Given the description of an element on the screen output the (x, y) to click on. 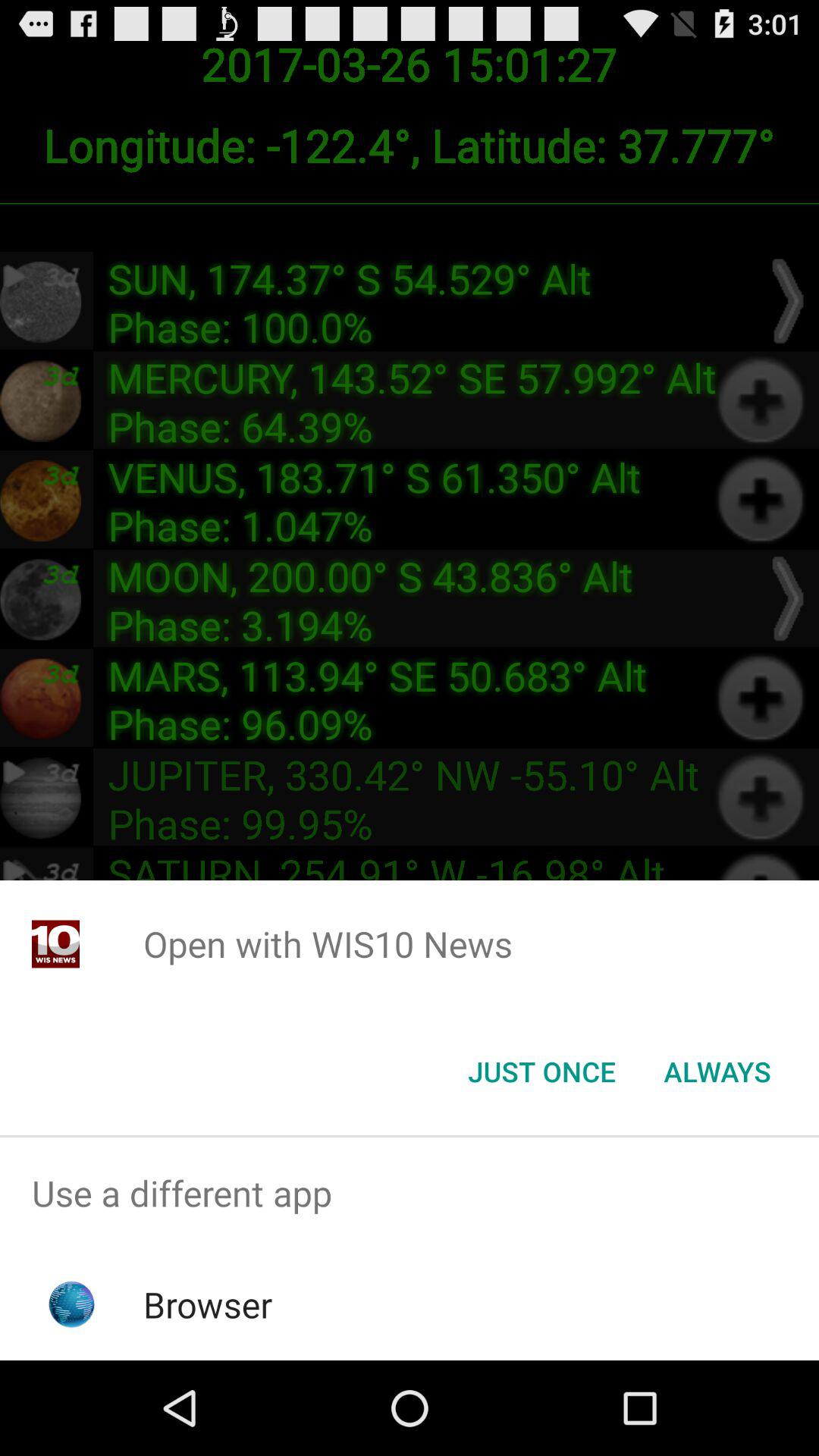
click app above the browser app (409, 1192)
